Given the description of an element on the screen output the (x, y) to click on. 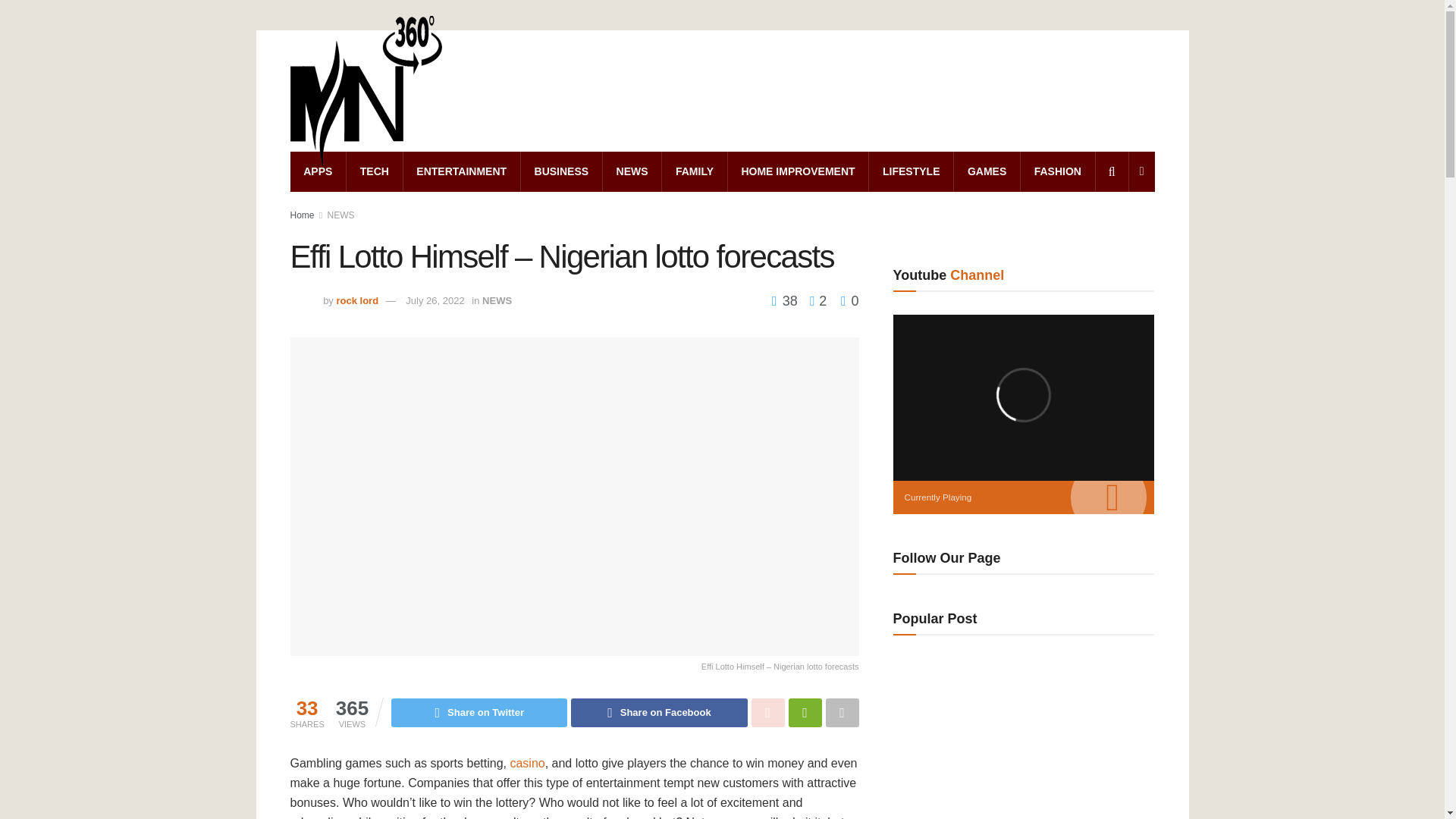
HOME IMPROVEMENT (798, 171)
BUSINESS (561, 171)
rock lord (357, 300)
0 (850, 300)
July 26, 2022 (435, 300)
APPS (317, 171)
GAMES (986, 171)
NEWS (496, 300)
Share on Twitter (479, 712)
TECH (374, 171)
LIFESTYLE (911, 171)
38 (786, 300)
NEWS (631, 171)
Home (301, 214)
ENTERTAINMENT (461, 171)
